Given the description of an element on the screen output the (x, y) to click on. 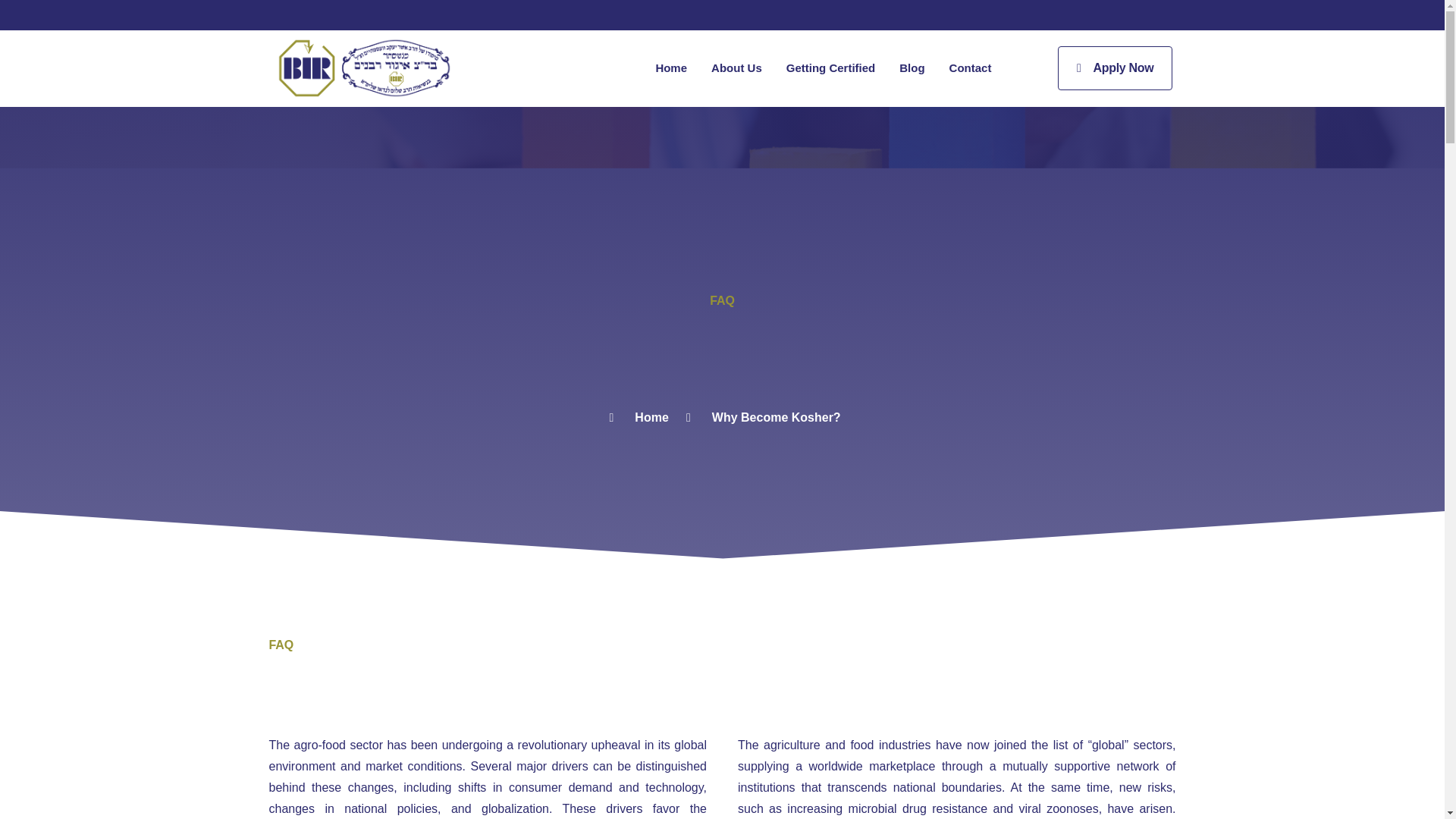
Getting Certified (831, 68)
